Given the description of an element on the screen output the (x, y) to click on. 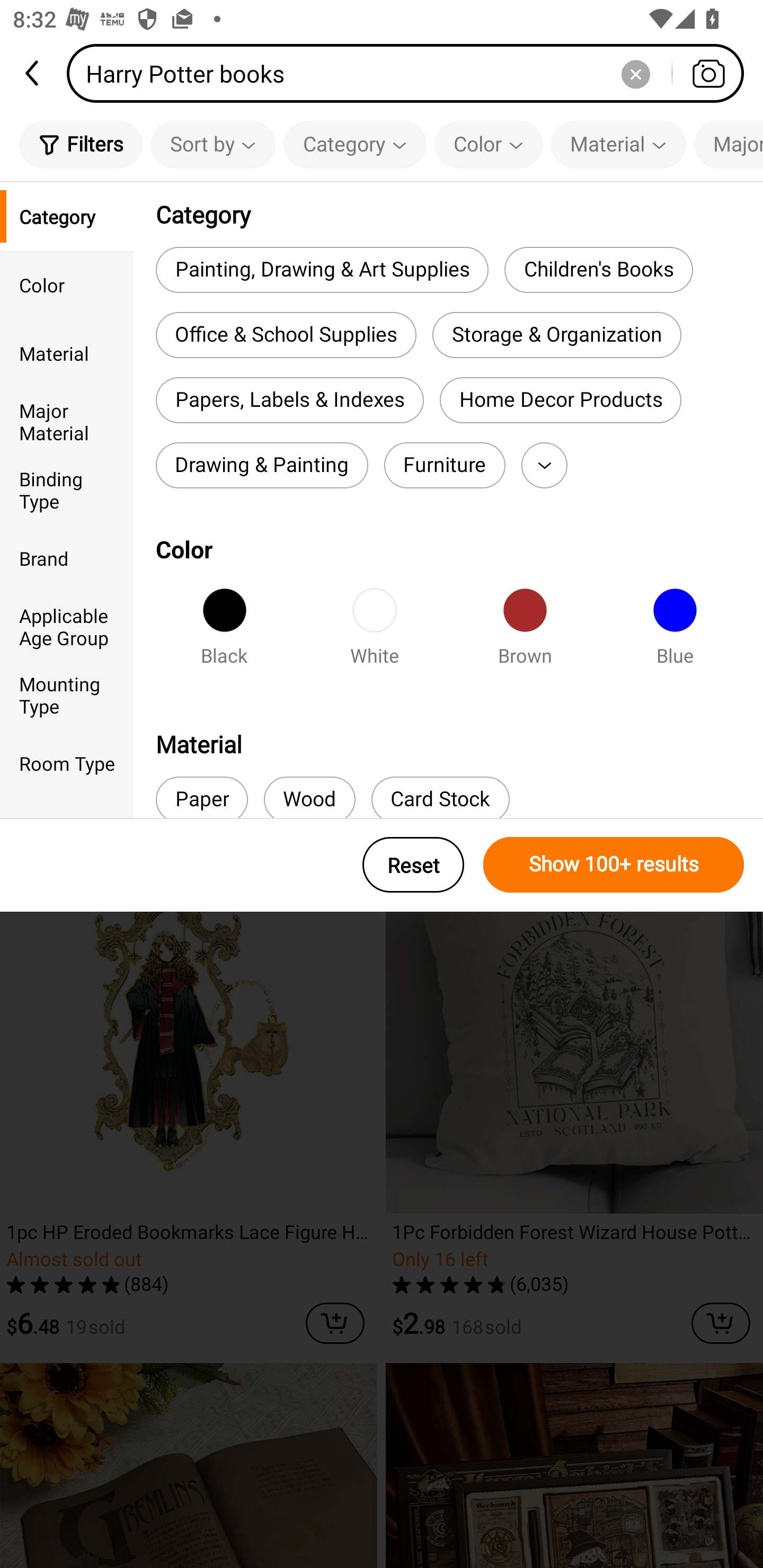
back (33, 72)
Harry Potter books (411, 73)
Delete search history (635, 73)
Search by photo (708, 73)
Filters (80, 143)
Sort by (212, 143)
Category (354, 143)
Color (488, 143)
Material (617, 143)
Major Material (728, 143)
Category (66, 215)
Painting, Drawing & Art Supplies (321, 269)
Children's Books (598, 269)
Color (66, 284)
Office & School Supplies (285, 334)
Storage & Organization (556, 334)
Material (66, 352)
Papers, Labels & Indexes (289, 400)
Home Decor Products (560, 400)
Major Material (66, 421)
